Given the description of an element on the screen output the (x, y) to click on. 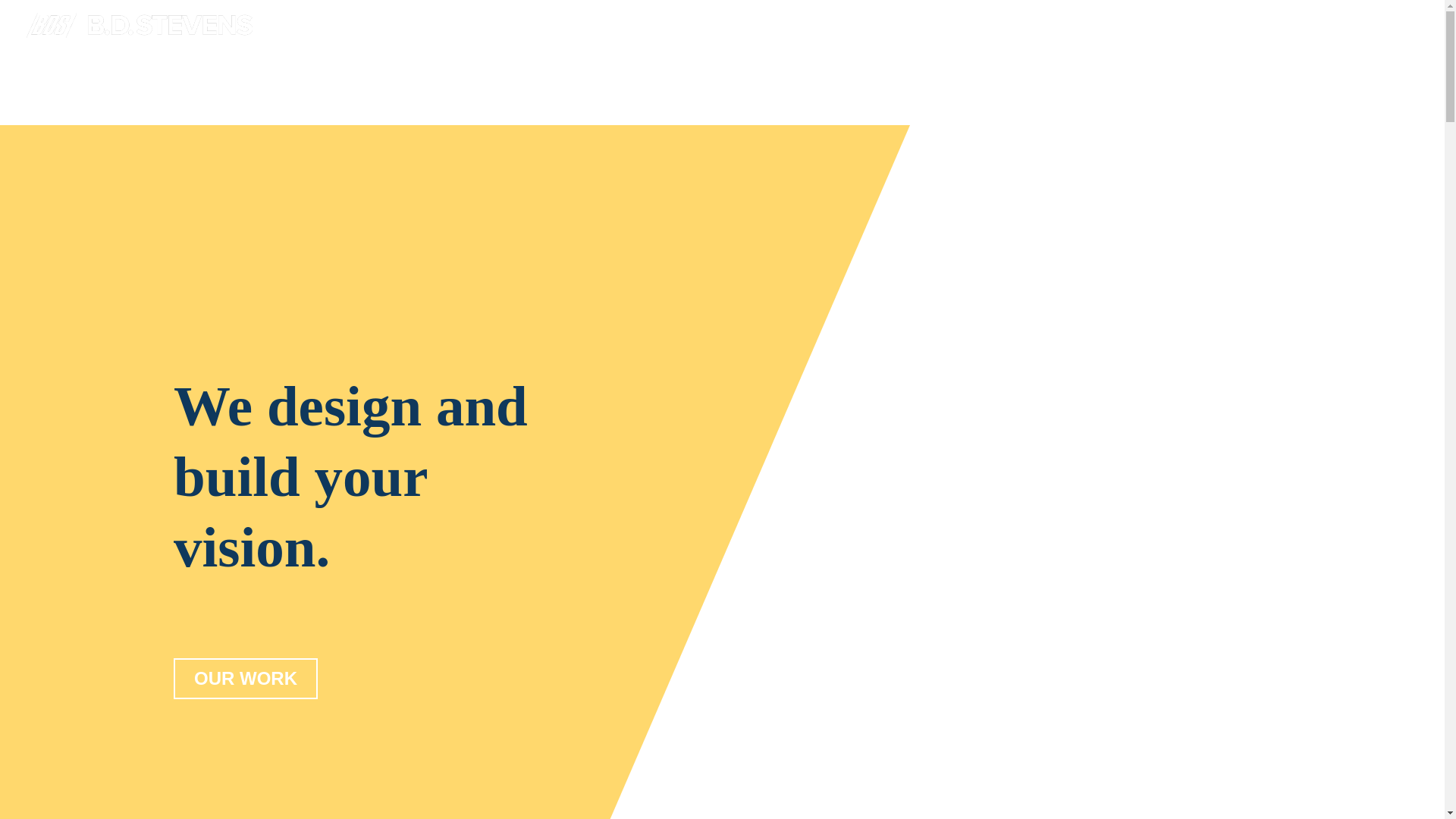
OUR WORK Element type: text (245, 678)
PROJECTS Element type: text (242, 67)
CAREERS Element type: text (355, 67)
CONTACT Element type: text (462, 67)
SERVICES Element type: text (128, 67)
